Given the description of an element on the screen output the (x, y) to click on. 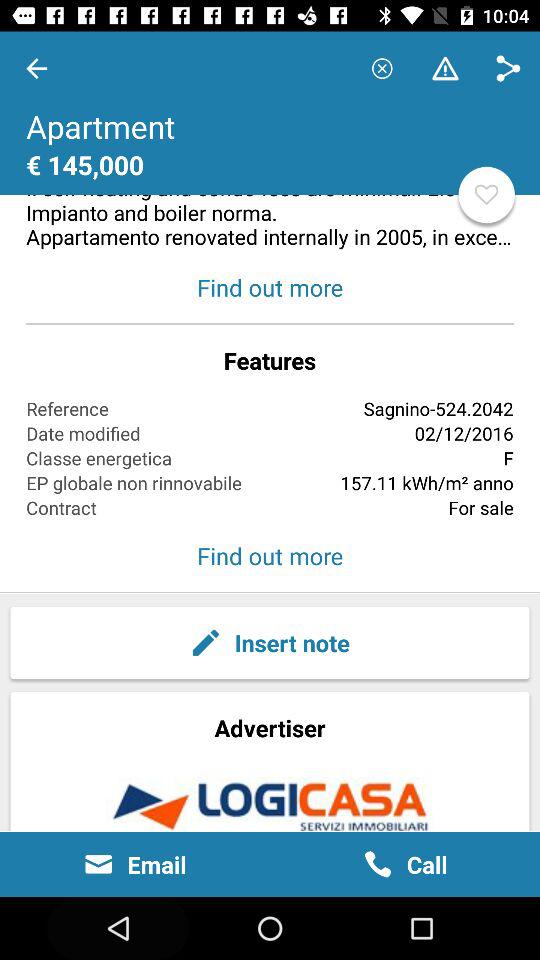
tap como sagnino three item (270, 141)
